Given the description of an element on the screen output the (x, y) to click on. 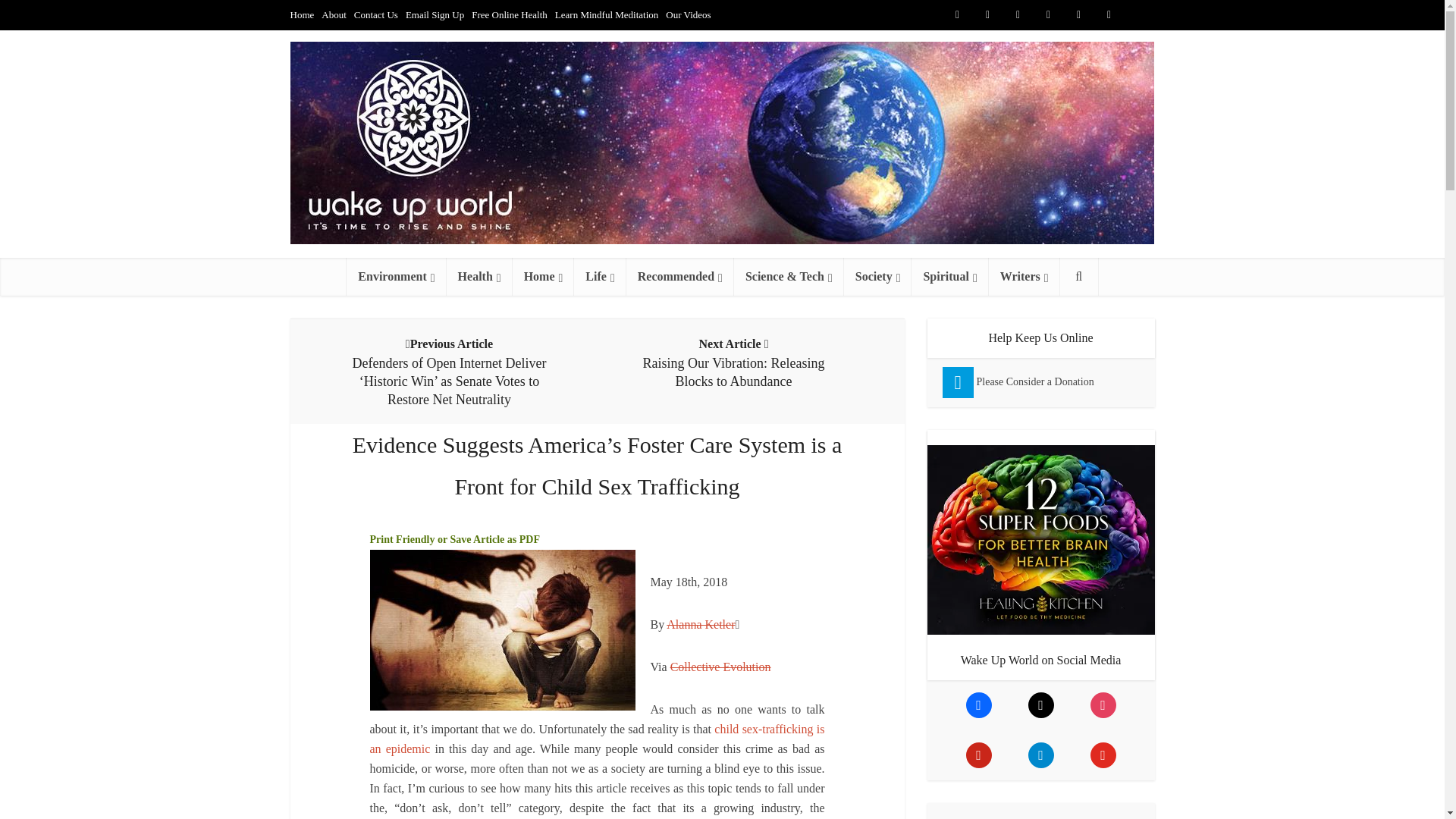
Free Online Health (509, 14)
About (333, 14)
Telegram (1139, 15)
Home (301, 14)
Health (479, 276)
Our Videos (687, 14)
Environment (395, 276)
Articles recommended by WuW (679, 276)
Email Sign Up (435, 14)
